Given the description of an element on the screen output the (x, y) to click on. 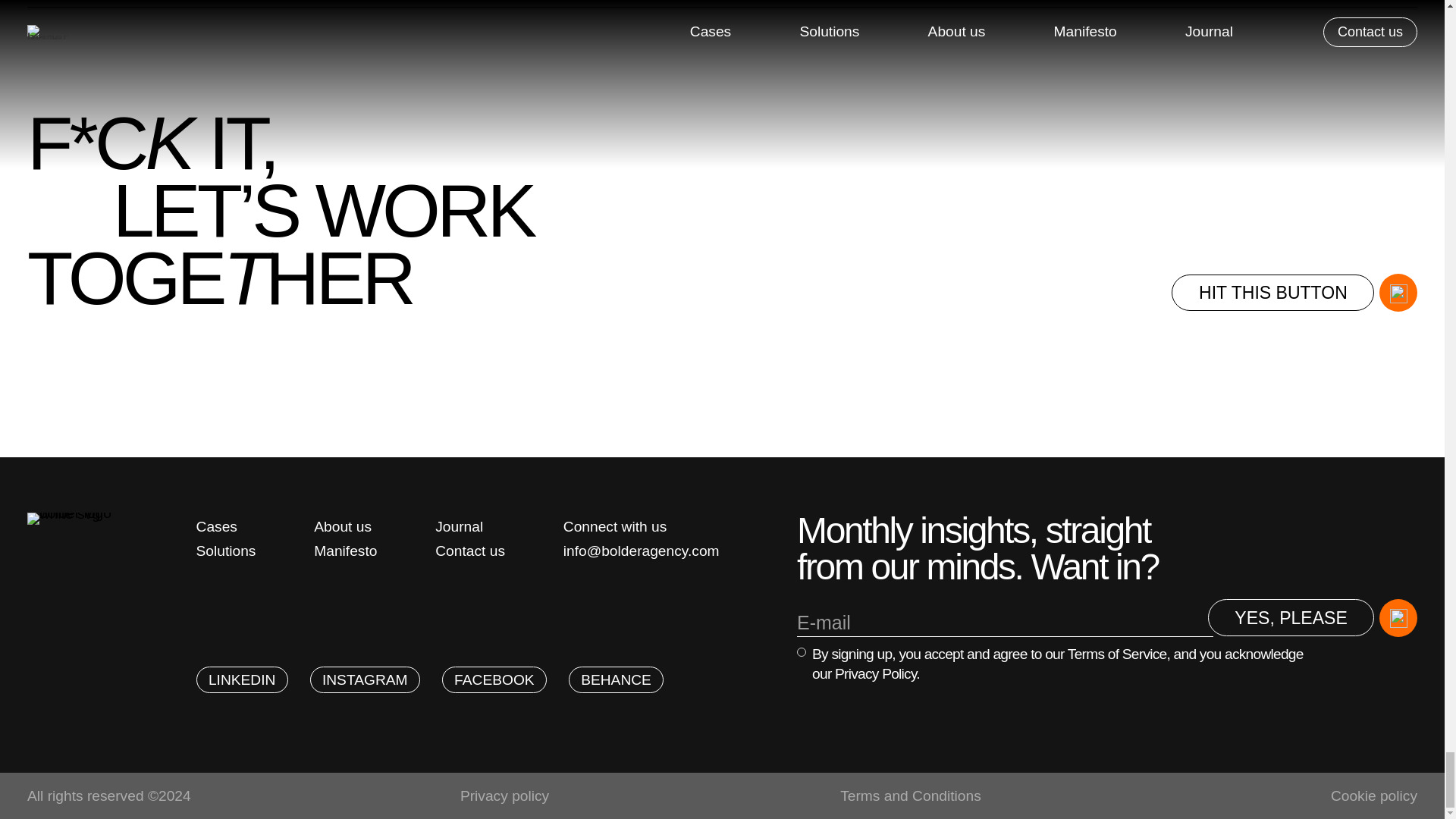
Contact us (470, 550)
HIT THIS BUTTON (1294, 292)
Cases (226, 526)
Solutions (226, 550)
About us (345, 526)
Submit (1321, 612)
Manifesto (345, 550)
Journal (470, 526)
